Given the description of an element on the screen output the (x, y) to click on. 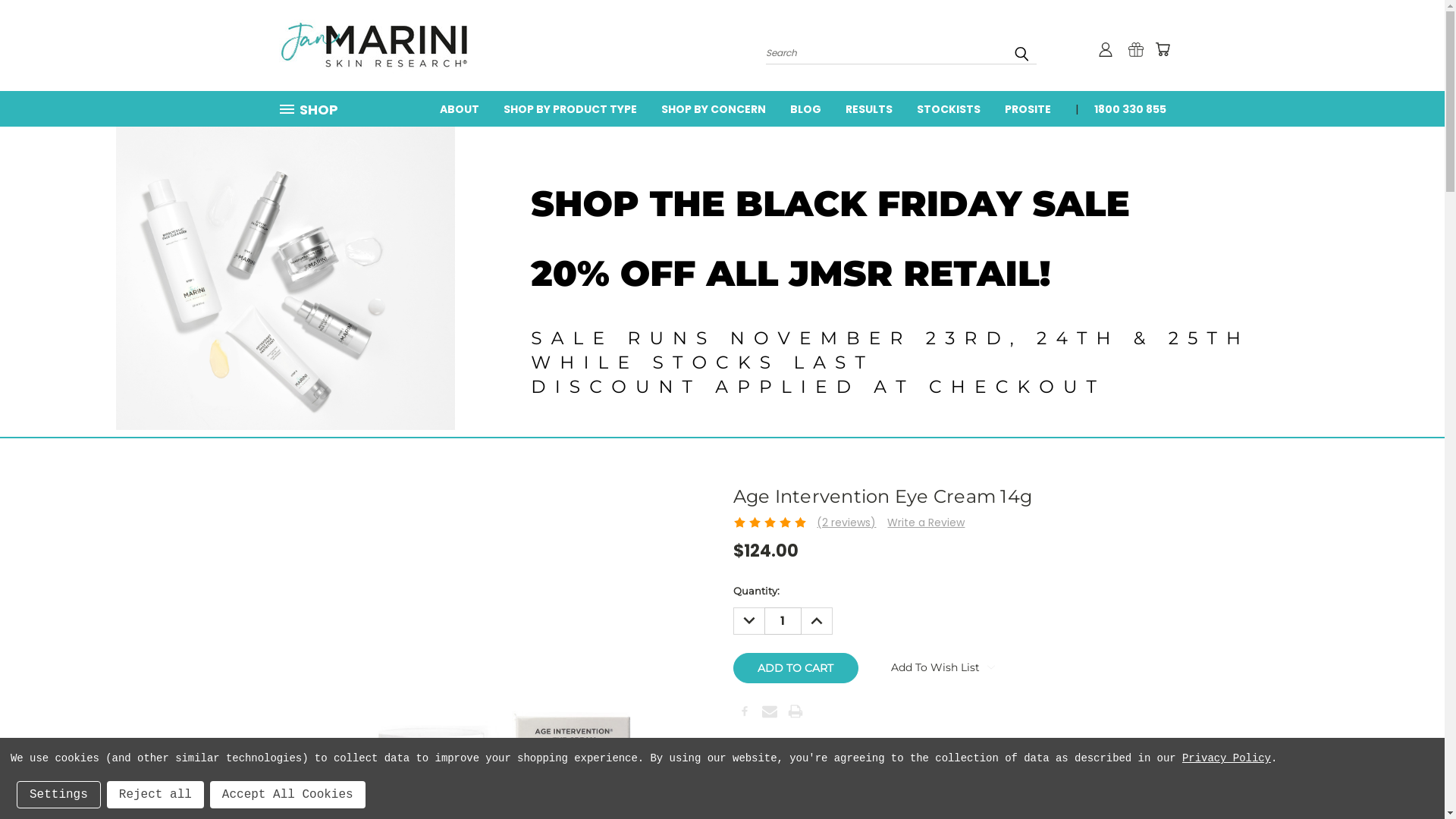
1800 330 855 Element type: text (1123, 108)
User Toolbox Element type: hover (1105, 48)
SHOP Element type: text (314, 109)
RESULTS Element type: text (867, 108)
Gift Certificates Element type: hover (1135, 48)
Add To Wish List Element type: text (942, 666)
SHOP BY CONCERN Element type: text (713, 108)
BLOG Element type: text (805, 108)
Add to Cart Element type: text (795, 667)
SHOP BY PRODUCT TYPE Element type: text (570, 108)
Reject all Element type: text (154, 794)
Submit Search Element type: hover (1021, 53)
INCREASE QUANTITY: Element type: text (815, 620)
Write a Review Element type: text (925, 522)
Settings Element type: text (58, 794)
Accept All Cookies Element type: text (287, 794)
(2 reviews) Element type: text (845, 522)
PROSITE Element type: text (1026, 108)
janmariniaustralia Element type: hover (373, 45)
Privacy Policy Element type: text (1226, 758)
ABOUT Element type: text (459, 108)
DECREASE QUANTITY: Element type: text (747, 620)
STOCKISTS Element type: text (947, 108)
